Given the description of an element on the screen output the (x, y) to click on. 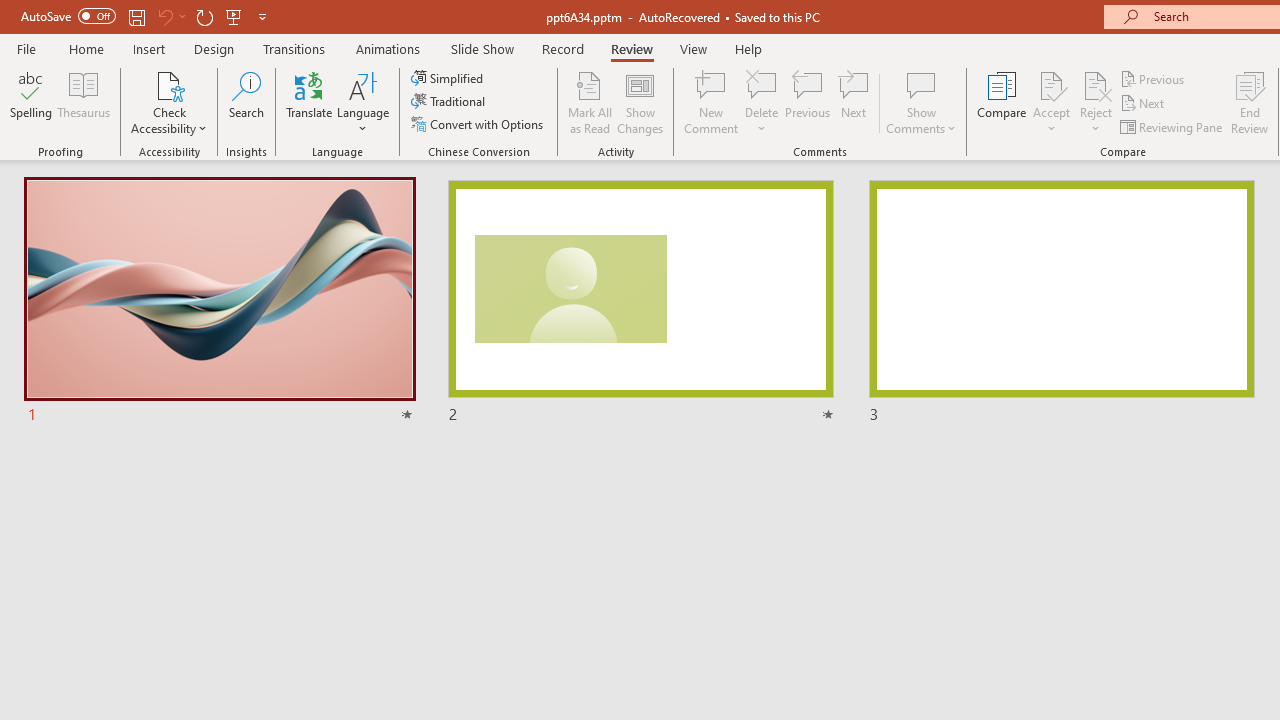
Simplified (449, 78)
Translate (309, 102)
Redo (204, 15)
Convert with Options... (479, 124)
Customize Quick Access Toolbar (262, 15)
Next (1144, 103)
Reviewing Pane (1172, 126)
Mark All as Read (589, 102)
Accept (1051, 102)
Check Accessibility (169, 102)
View (693, 48)
Slide (1061, 302)
